Given the description of an element on the screen output the (x, y) to click on. 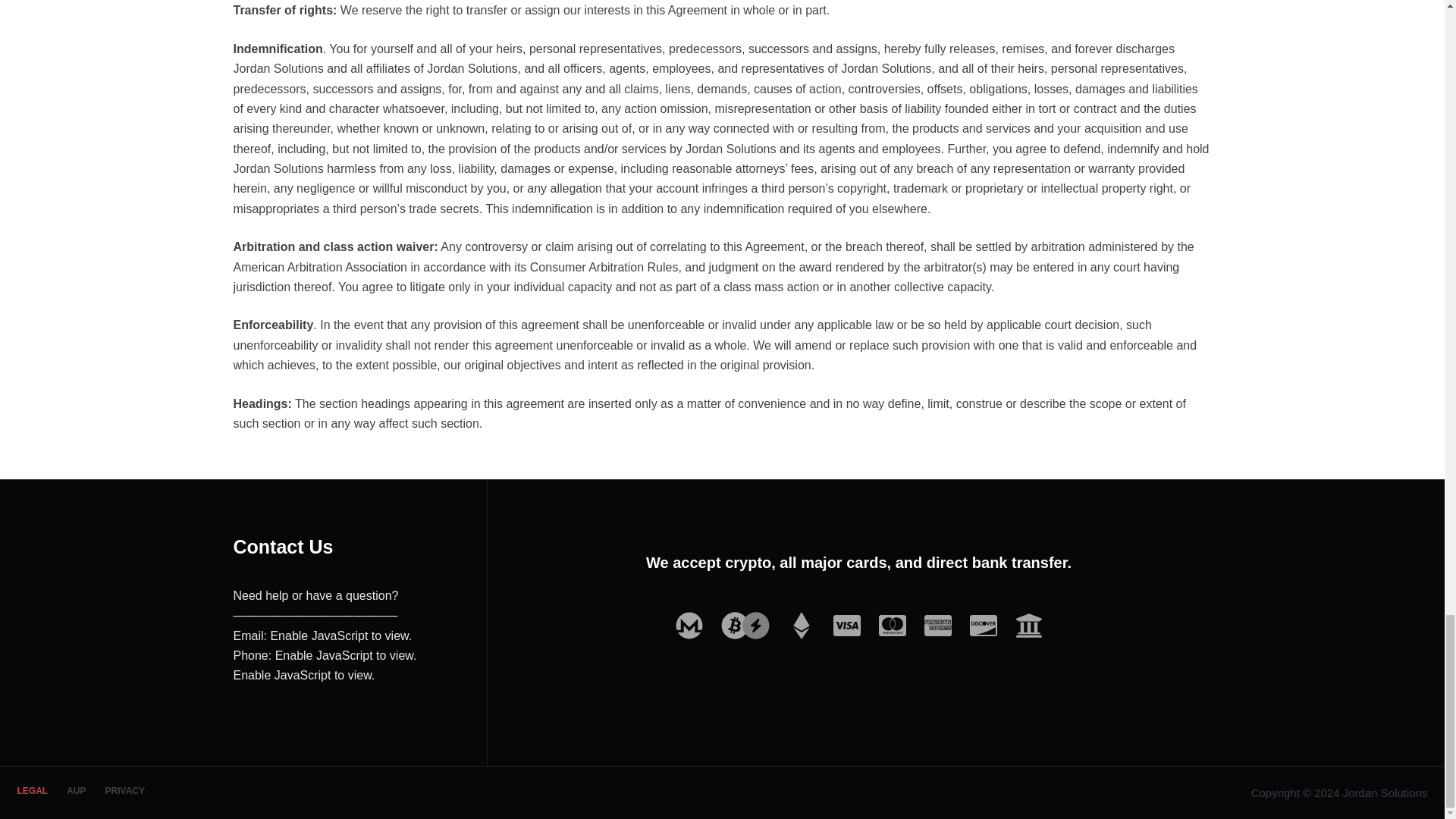
PRIVACY (125, 791)
LEGAL (32, 791)
AUP (77, 791)
